Given the description of an element on the screen output the (x, y) to click on. 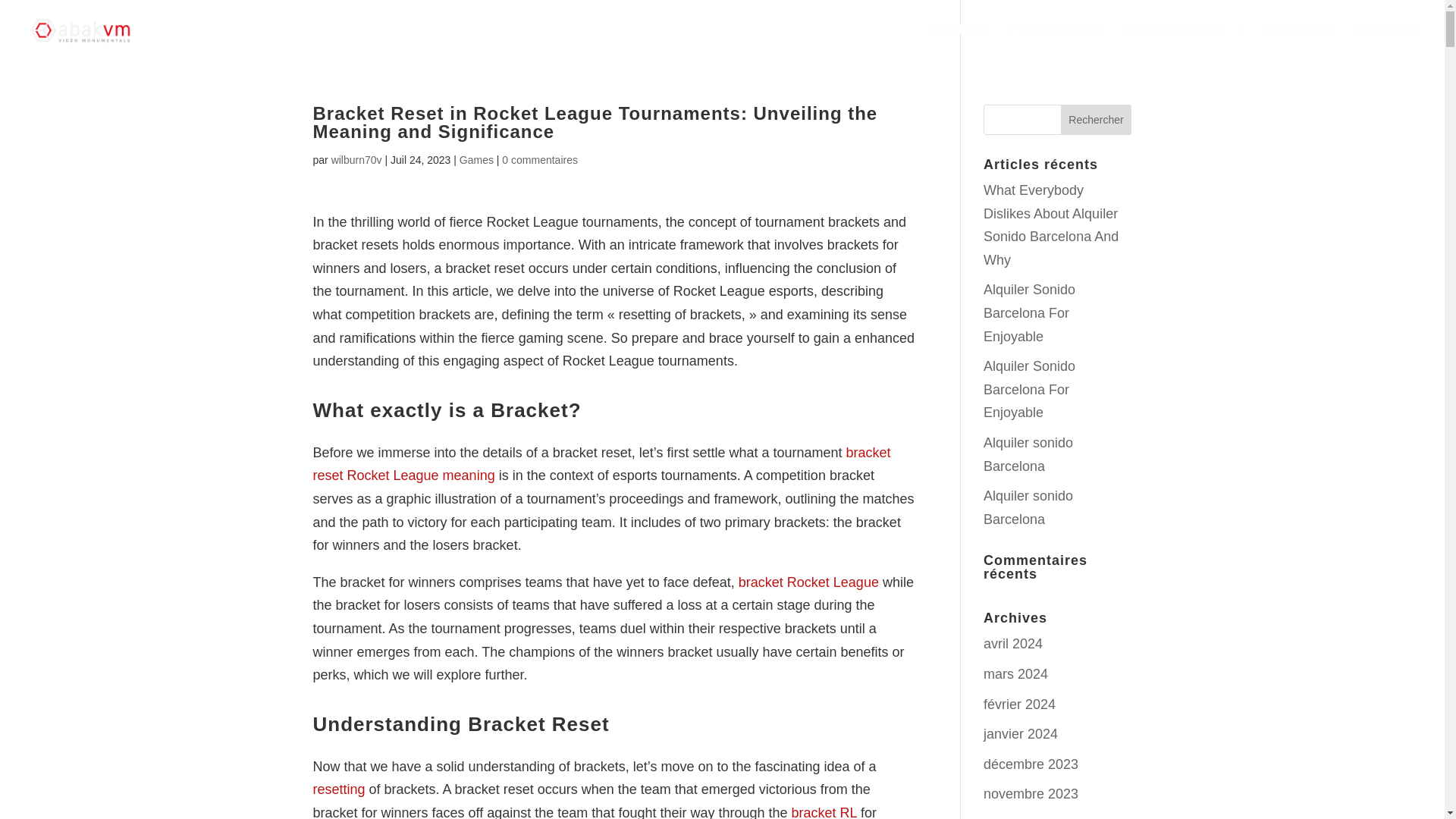
janvier 2024 (1021, 734)
Alquiler sonido Barcelona (1028, 507)
Alquiler Sonido Barcelona For Enjoyable (1029, 312)
wilburn70v (356, 159)
ACCUEIL (959, 42)
novembre 2023 (1031, 793)
Rechercher (1096, 119)
Alquiler sonido Barcelona (1028, 454)
bracket Rocket League (808, 581)
0 commentaires (540, 159)
Articles de wilburn70v (356, 159)
bracket RL (824, 812)
Alquiler Sonido Barcelona For Enjoyable (1029, 389)
Games (476, 159)
CONTACT (1387, 42)
